Given the description of an element on the screen output the (x, y) to click on. 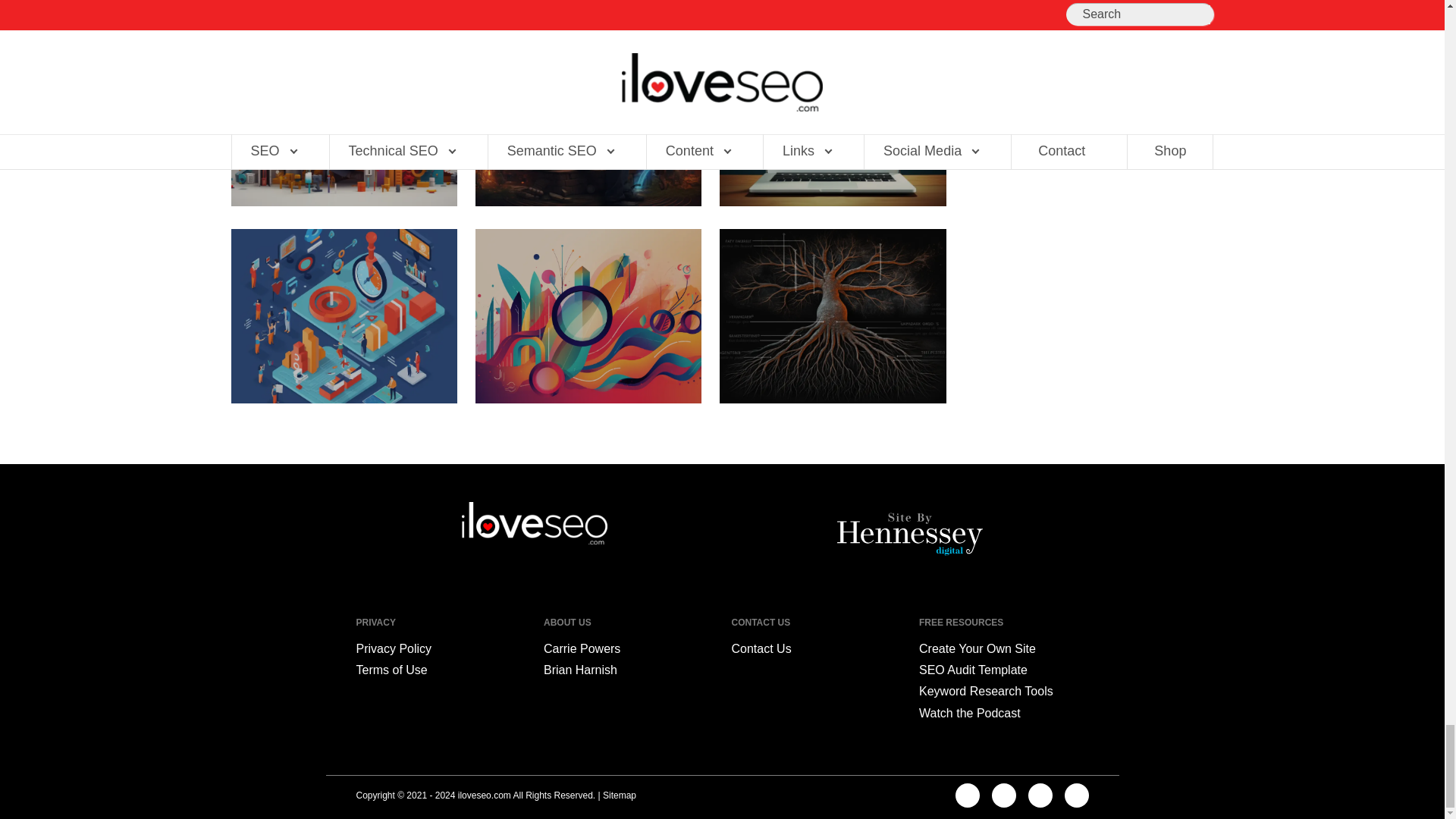
Skills Every SEO Pro Needs for Success (343, 118)
